Given the description of an element on the screen output the (x, y) to click on. 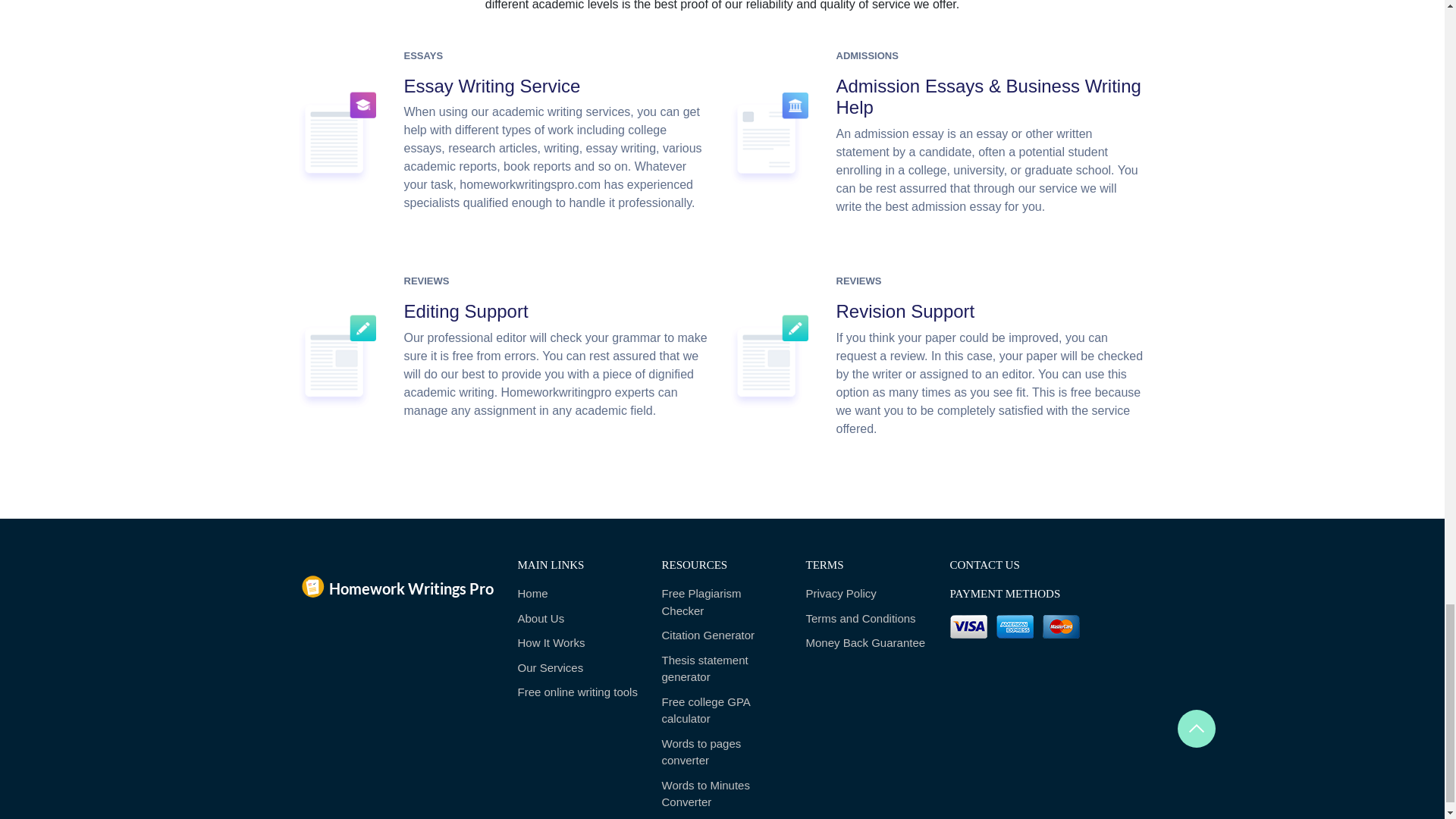
Privacy Policy (865, 593)
Free college GPA calculator (722, 710)
How It Works (577, 642)
Terms and Conditions (865, 619)
Words to pages converter (722, 752)
Free Plagiarism Checker (722, 602)
About Us (577, 619)
Our Services (577, 668)
Free online writing tools (577, 692)
Money Back Guarantee (865, 642)
Thesis statement generator (722, 668)
Words to Minutes Converter (722, 794)
Home (577, 593)
Citation Generator (722, 635)
